Given the description of an element on the screen output the (x, y) to click on. 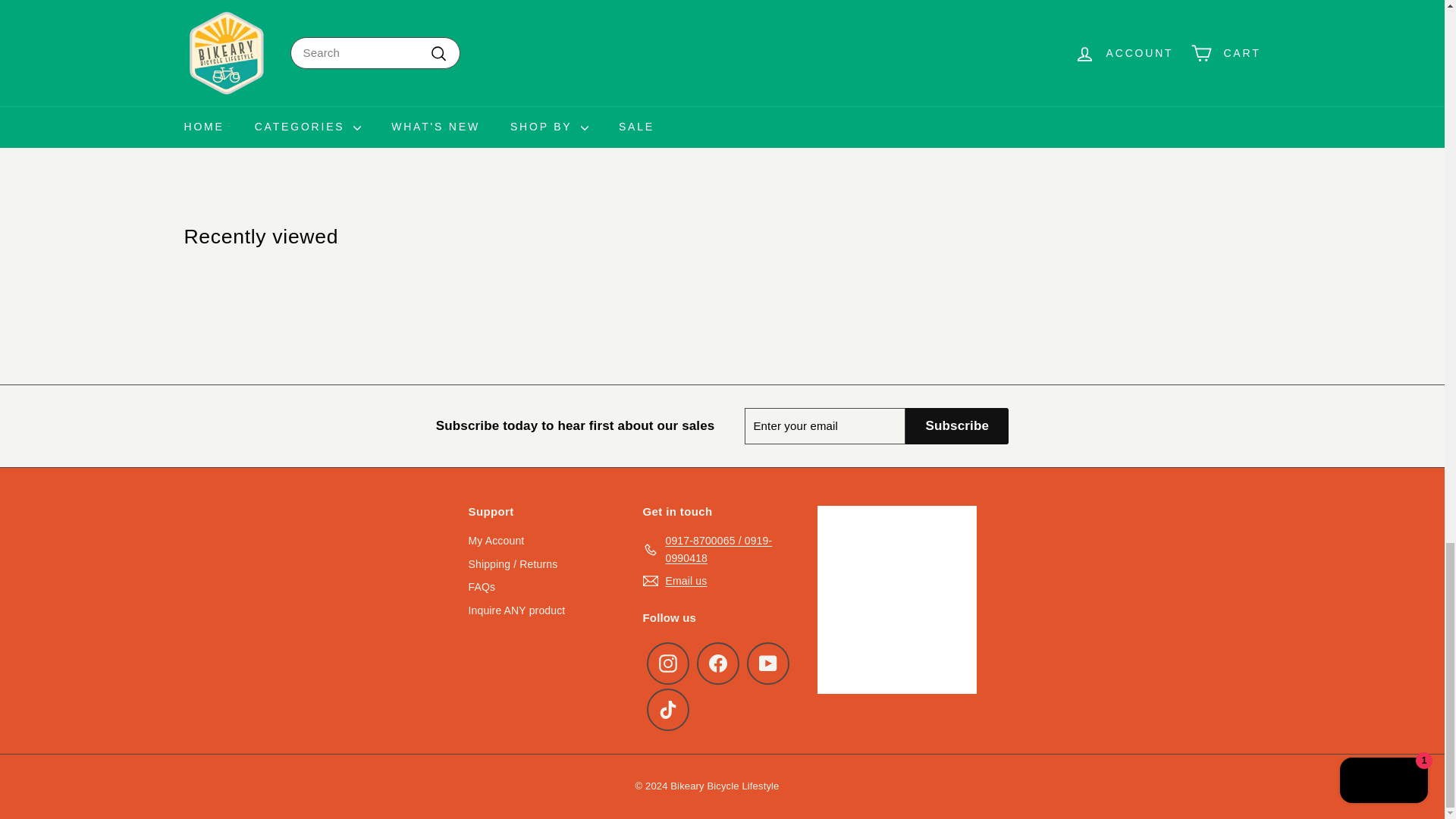
instagram (667, 663)
Bikeary Bicycle Lifestyle on YouTube (767, 663)
Bikeary Bicycle Lifestyle on TikTok (667, 709)
Bikeary Bicycle Lifestyle on Facebook (716, 663)
Bikeary Bicycle Lifestyle on Instagram (667, 663)
